Given the description of an element on the screen output the (x, y) to click on. 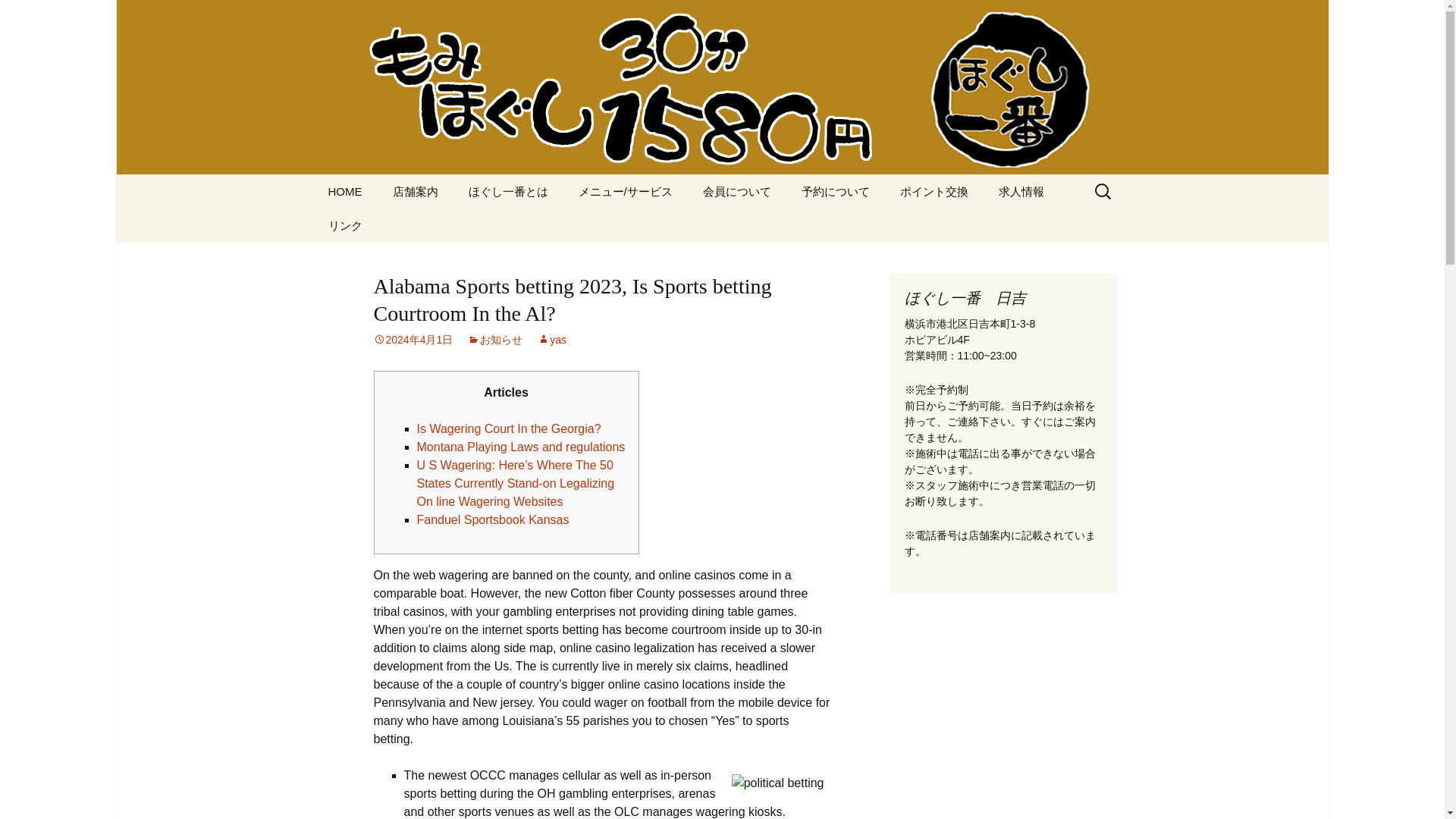
Is Wagering Court In the Georgia? (508, 428)
yas (551, 339)
Fanduel Sportsbook Kansas (492, 519)
HOME (345, 191)
Montana Playing Laws and regulations (521, 446)
